Given the description of an element on the screen output the (x, y) to click on. 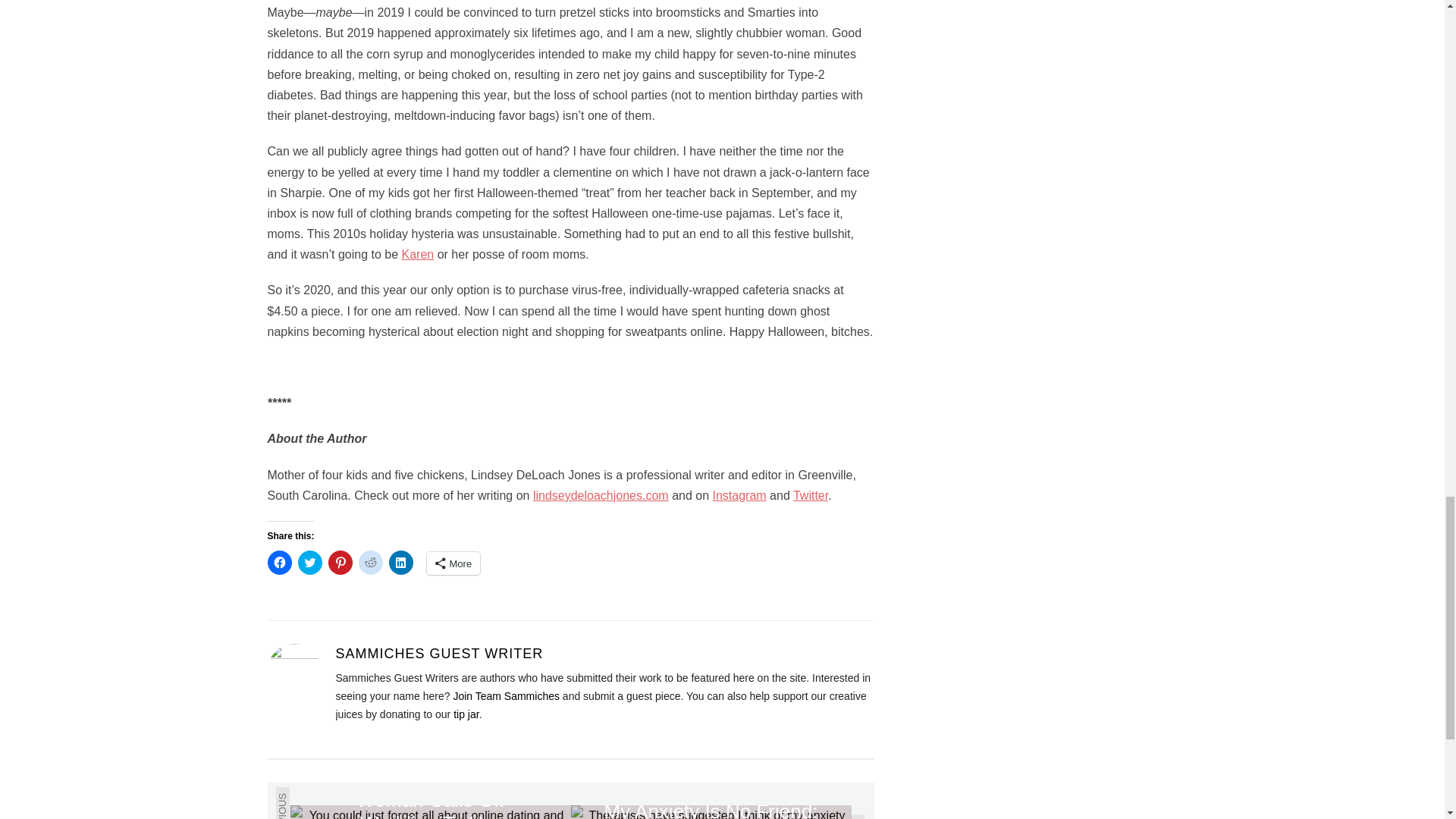
Woman Calls Off Wedding To Her Phantom Fiance After He  (429, 812)
Click to share on Pinterest (339, 562)
Click to share on LinkedIn (400, 562)
Click to share on Reddit (369, 562)
Click to share on Facebook (278, 562)
Click to share on Twitter (309, 562)
Posts by Sammiches Guest Writer (438, 653)
